Given the description of an element on the screen output the (x, y) to click on. 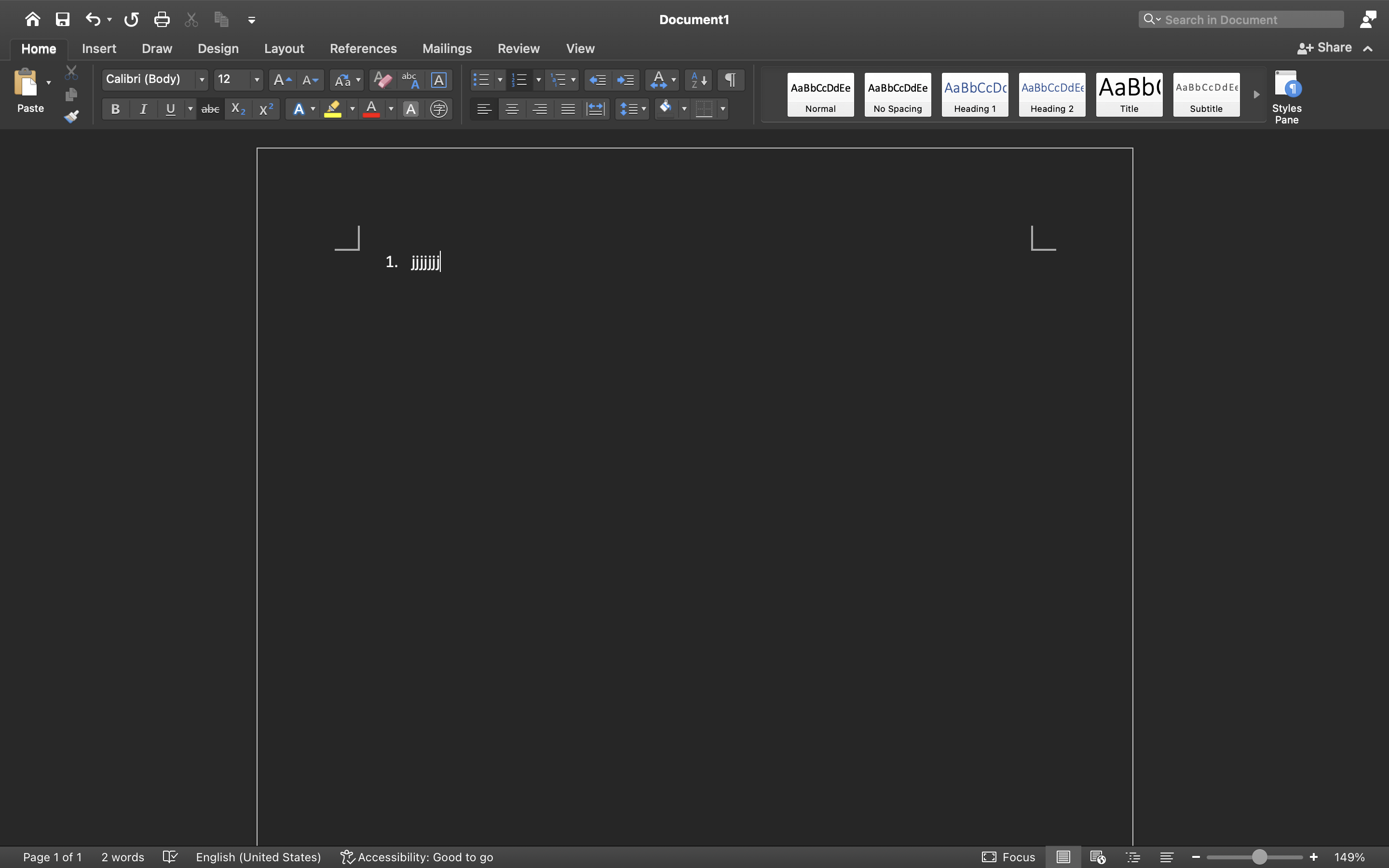
0 Element type: AXRadioButton (820, 94)
0 Element type: AXCheckBox (417, 856)
Calibri (Body) Element type: AXComboBox (155, 79)
Document1 Element type: AXStaticText (693, 19)
12 Element type: AXComboBox (238, 79)
